Given the description of an element on the screen output the (x, y) to click on. 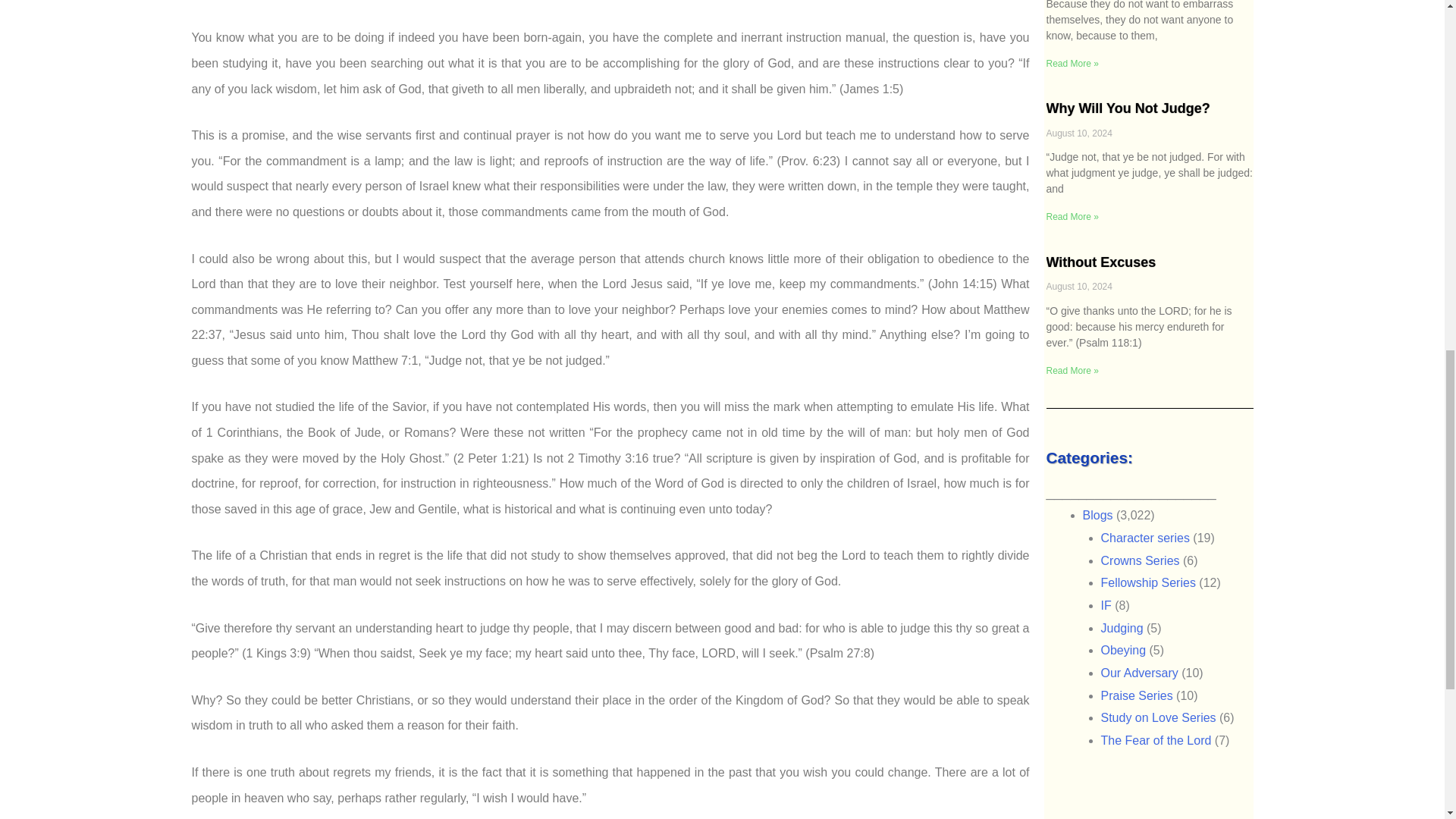
Character series (1144, 537)
The Fear of the Lord (1155, 739)
Obeying (1123, 649)
Judging (1121, 627)
Crowns Series (1139, 560)
Praise Series (1136, 695)
Why Will You Not Judge? (1127, 108)
Our Adversary (1138, 672)
Study on Love Series (1157, 717)
Blogs (1098, 514)
